Given the description of an element on the screen output the (x, y) to click on. 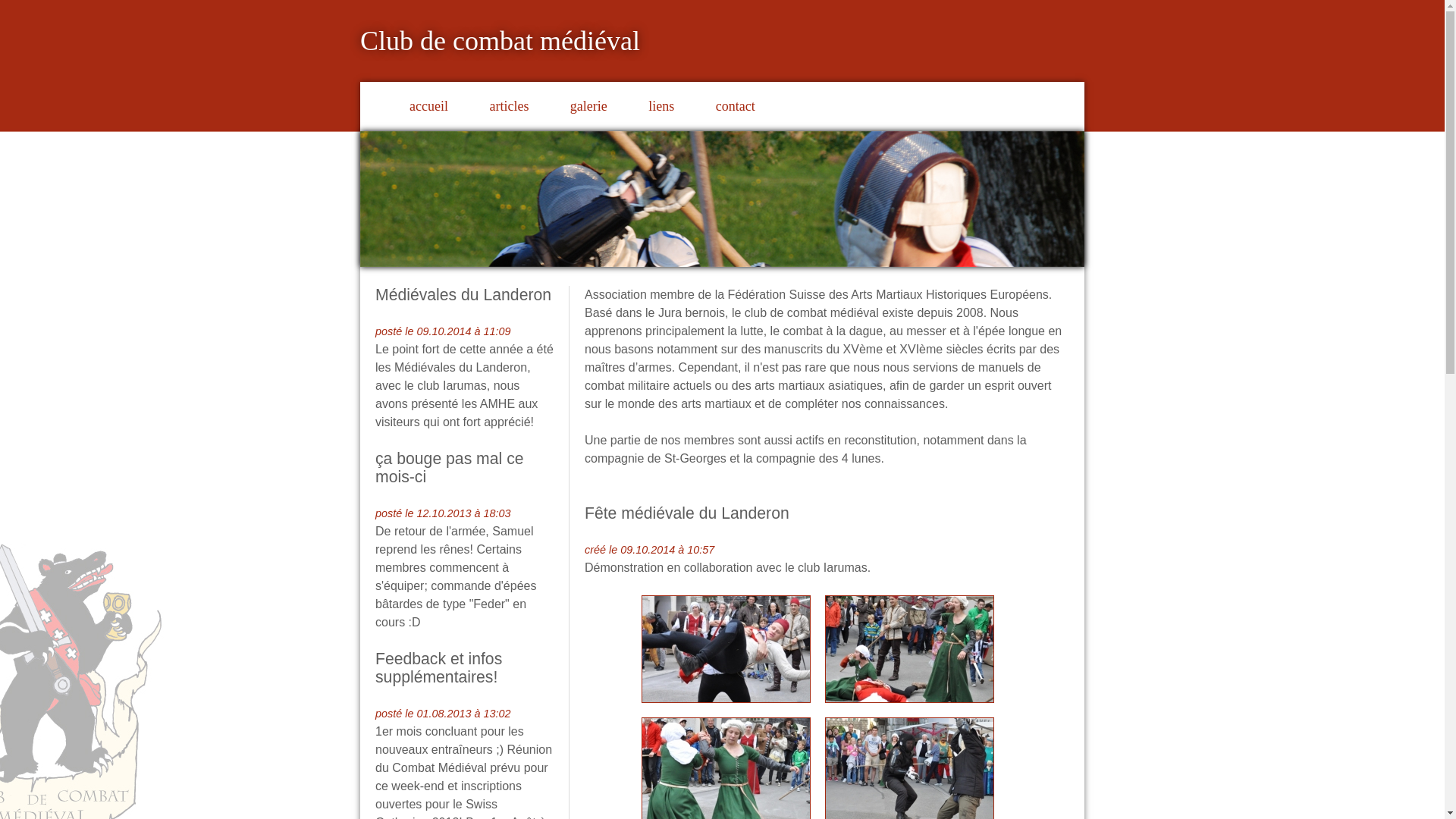
galerie Element type: text (588, 105)
liens Element type: text (661, 105)
accueil Element type: text (428, 105)
articles Element type: text (508, 105)
contact Element type: text (735, 105)
